Given the description of an element on the screen output the (x, y) to click on. 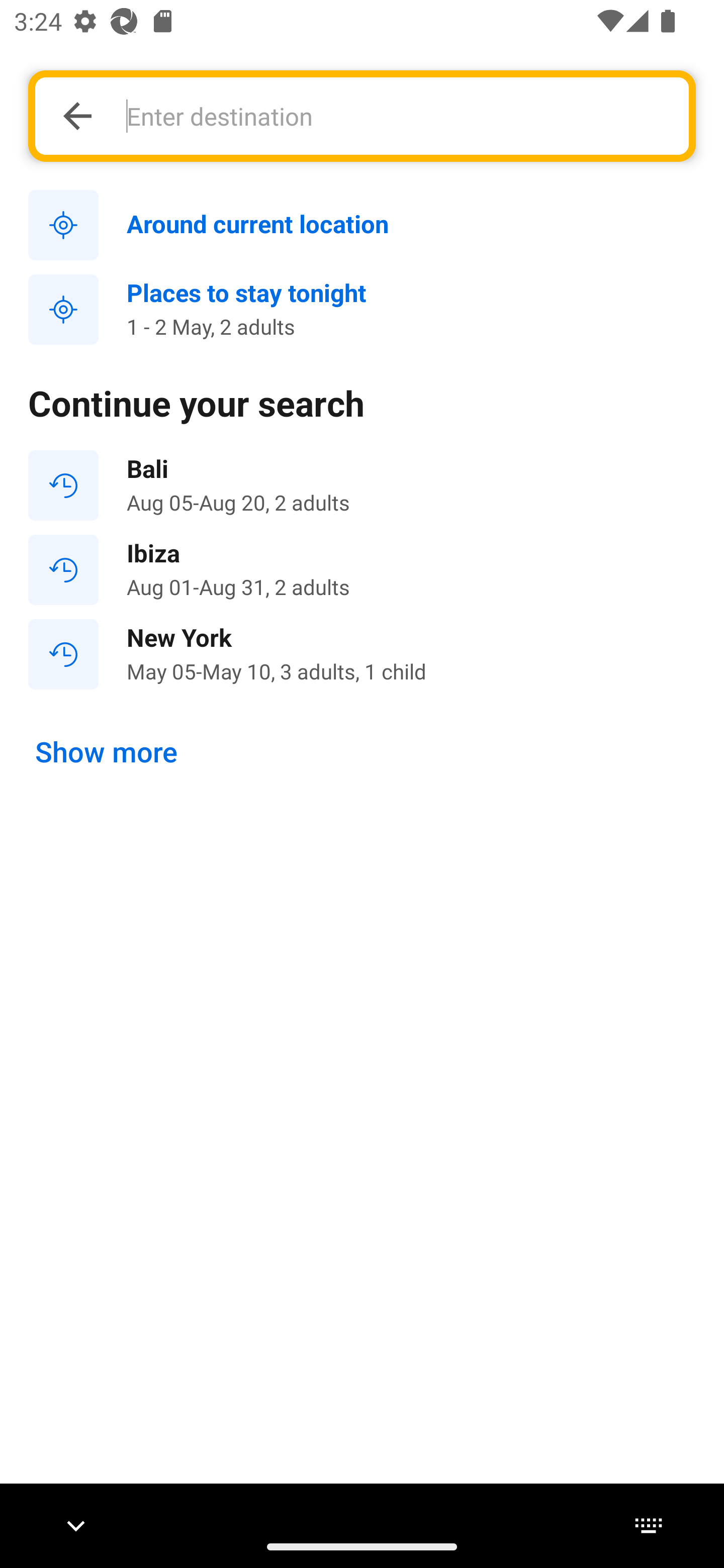
Enter destination (396, 115)
Around current location (362, 225)
Places to stay tonight 1 - 2 May, 2 adults (362, 309)
Bali Aug 05-Aug 20, 2 adults  (362, 485)
Ibiza Aug 01-Aug 31, 2 adults  (362, 569)
New York May 05-May 10, 3 adults, 1 child (362, 653)
Show more (106, 752)
